Given the description of an element on the screen output the (x, y) to click on. 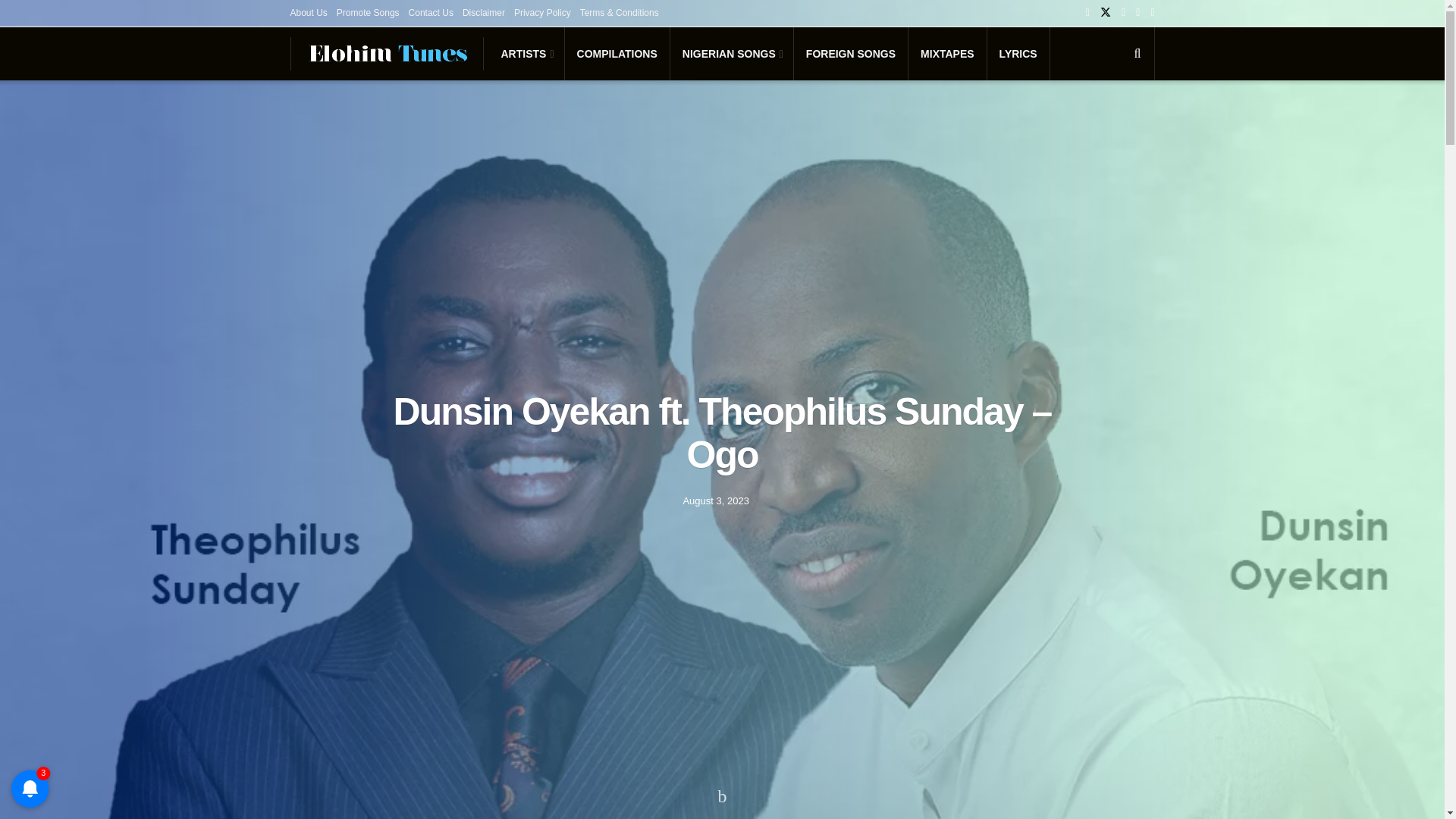
FOREIGN SONGS (850, 53)
Privacy Policy (541, 12)
COMPILATIONS (616, 53)
ARTISTS (525, 53)
Contact Us (430, 12)
LYRICS (1018, 53)
Disclaimer (484, 12)
NIGERIAN SONGS (731, 53)
Promote Songs (367, 12)
MIXTAPES (947, 53)
About Us (307, 12)
